Given the description of an element on the screen output the (x, y) to click on. 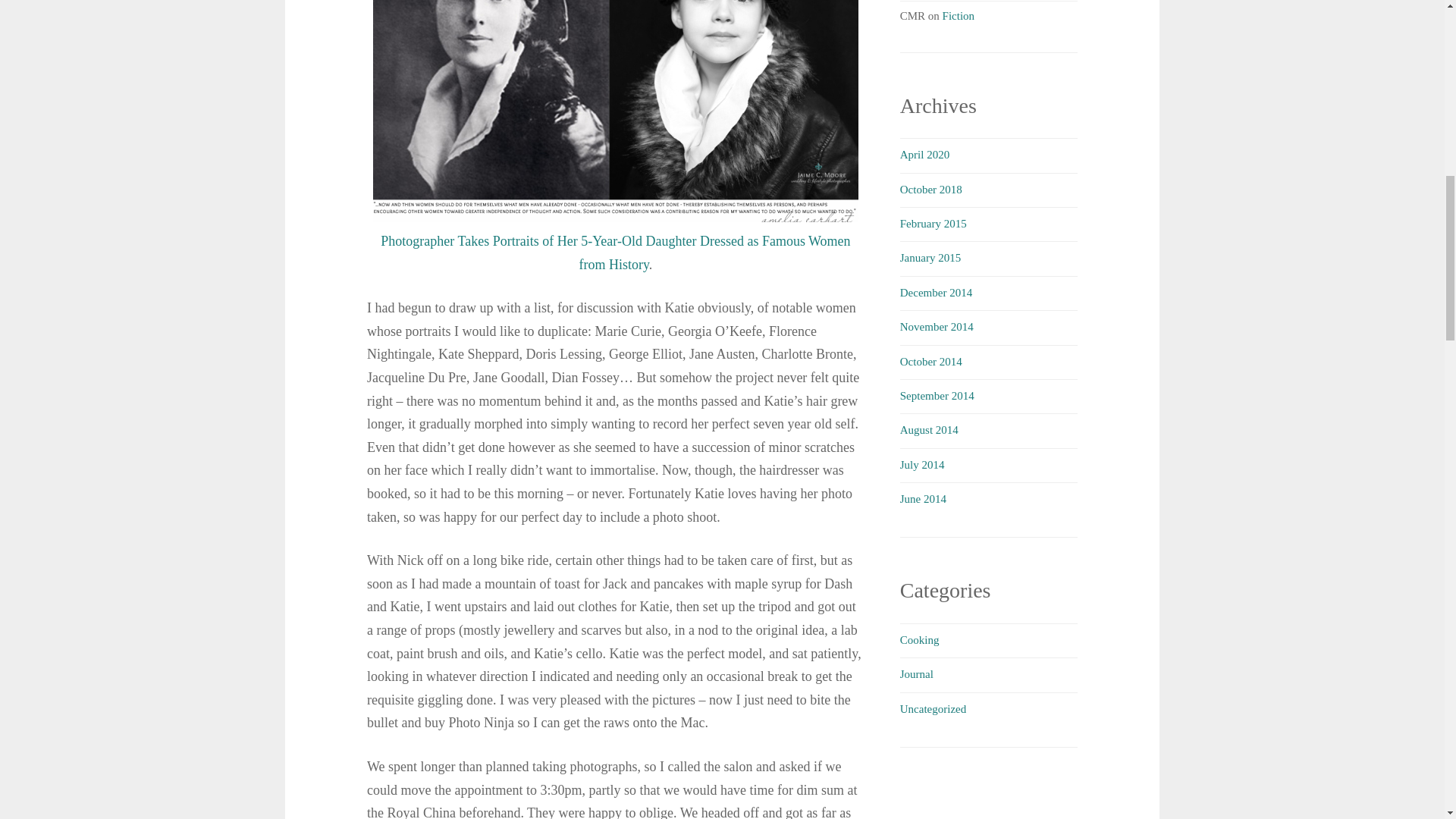
August 2014 (928, 429)
November 2014 (936, 326)
July 2014 (921, 464)
September 2014 (936, 395)
January 2015 (929, 257)
December 2014 (935, 292)
Fiction (958, 15)
February 2015 (932, 223)
October 2014 (930, 360)
October 2018 (930, 189)
April 2020 (924, 154)
